Given the description of an element on the screen output the (x, y) to click on. 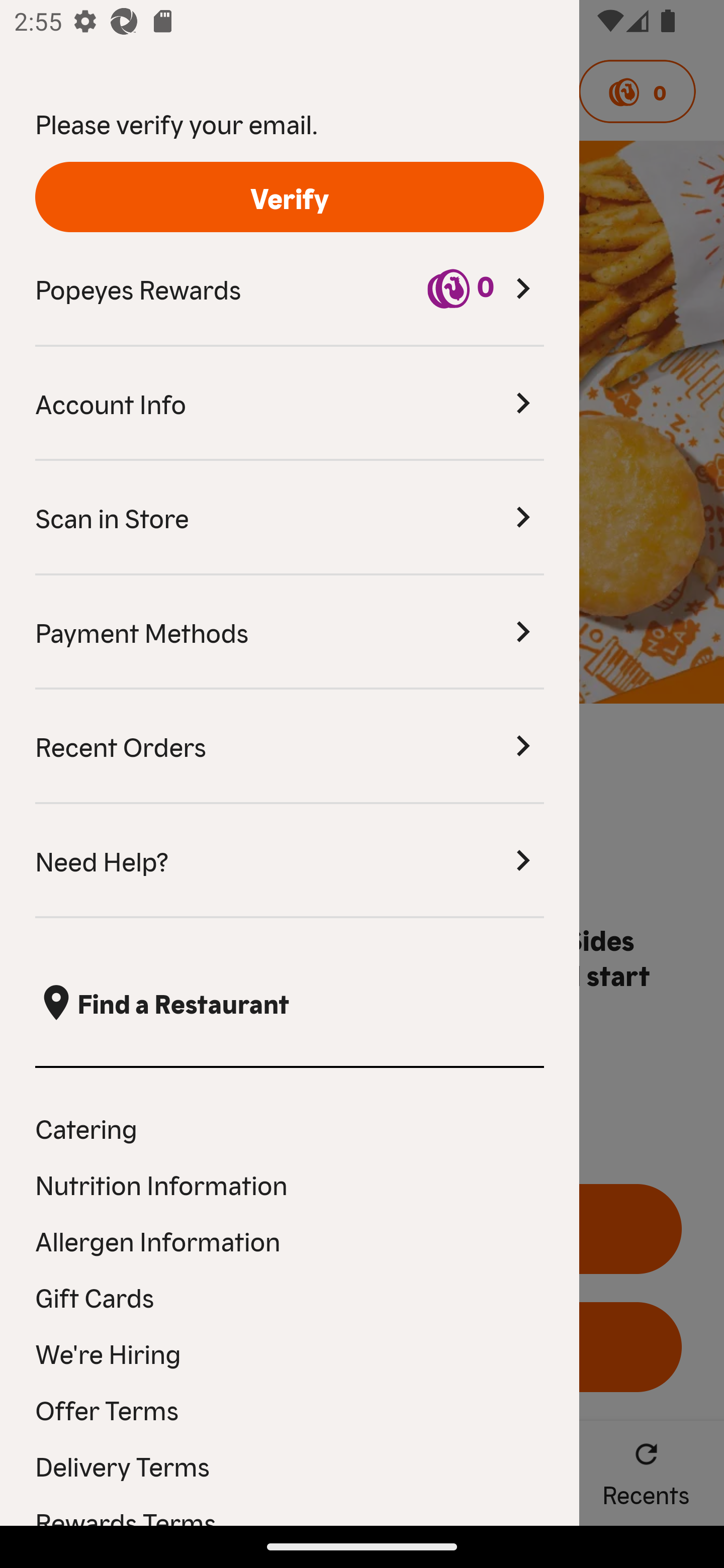
Verify (289, 196)
Account Info Account Info  (289, 403)
Scan in Store Scan in Store  (289, 517)
Payment Methods Payment Methods  (289, 632)
Recent Orders Recent Orders  (289, 746)
Need Help? Need Help?  (289, 861)
, Find a Restaurant  Find a Restaurant (289, 1002)
Catering (289, 1127)
Nutrition Information (289, 1183)
Allergen Information (289, 1240)
Gift Cards (289, 1296)
We're Hiring (289, 1352)
Offer Terms (289, 1409)
Delivery Terms (289, 1465)
